Given the description of an element on the screen output the (x, y) to click on. 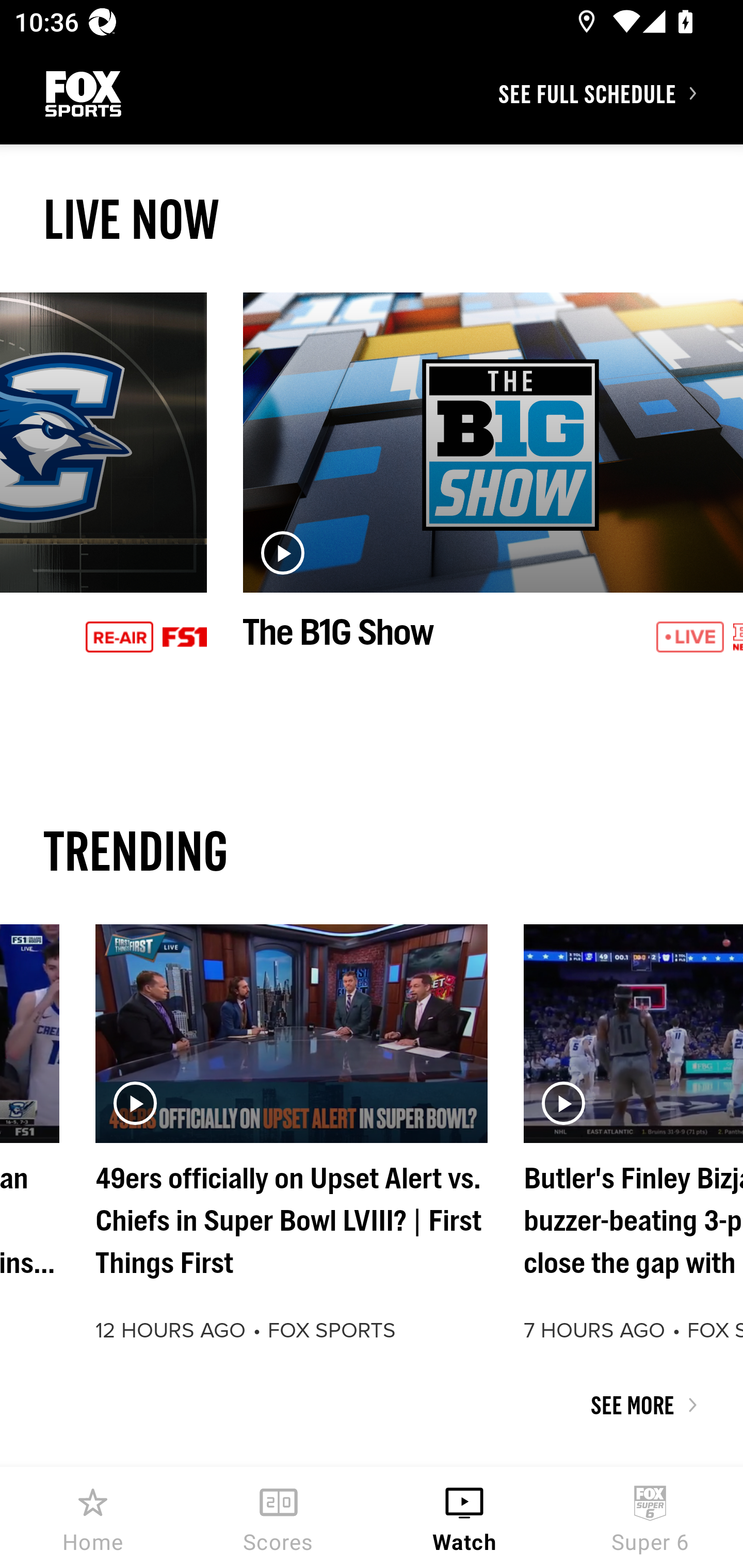
SEE FULL SCHEDULE (620, 93)
LIVE NOW (371, 218)
The B1G Show (492, 494)
TRENDING (371, 850)
SEE MORE (371, 1404)
Home (92, 1517)
Scores (278, 1517)
Super 6 (650, 1517)
